Given the description of an element on the screen output the (x, y) to click on. 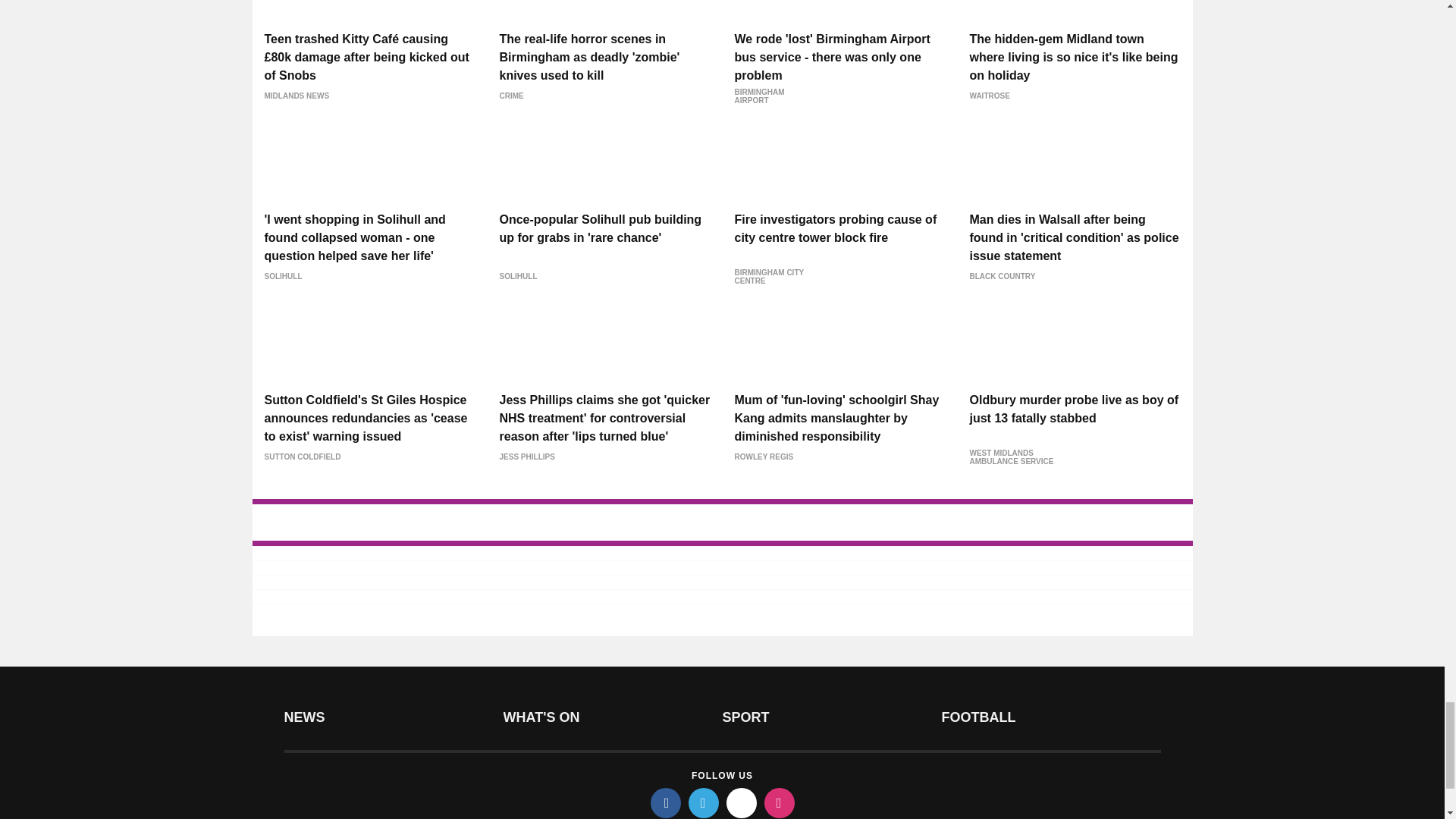
instagram (779, 802)
tiktok (741, 802)
facebook (665, 802)
twitter (703, 802)
